Given the description of an element on the screen output the (x, y) to click on. 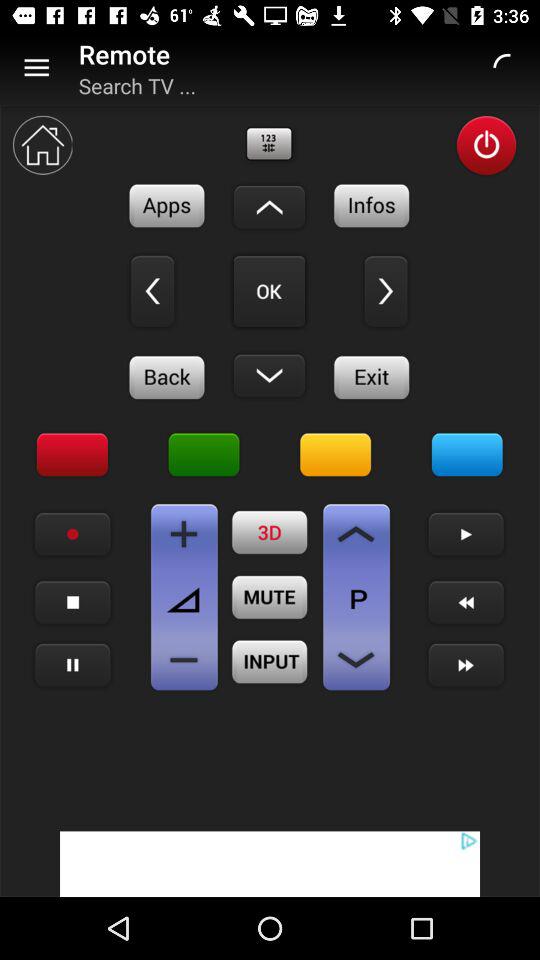
remote mute option (269, 597)
